Given the description of an element on the screen output the (x, y) to click on. 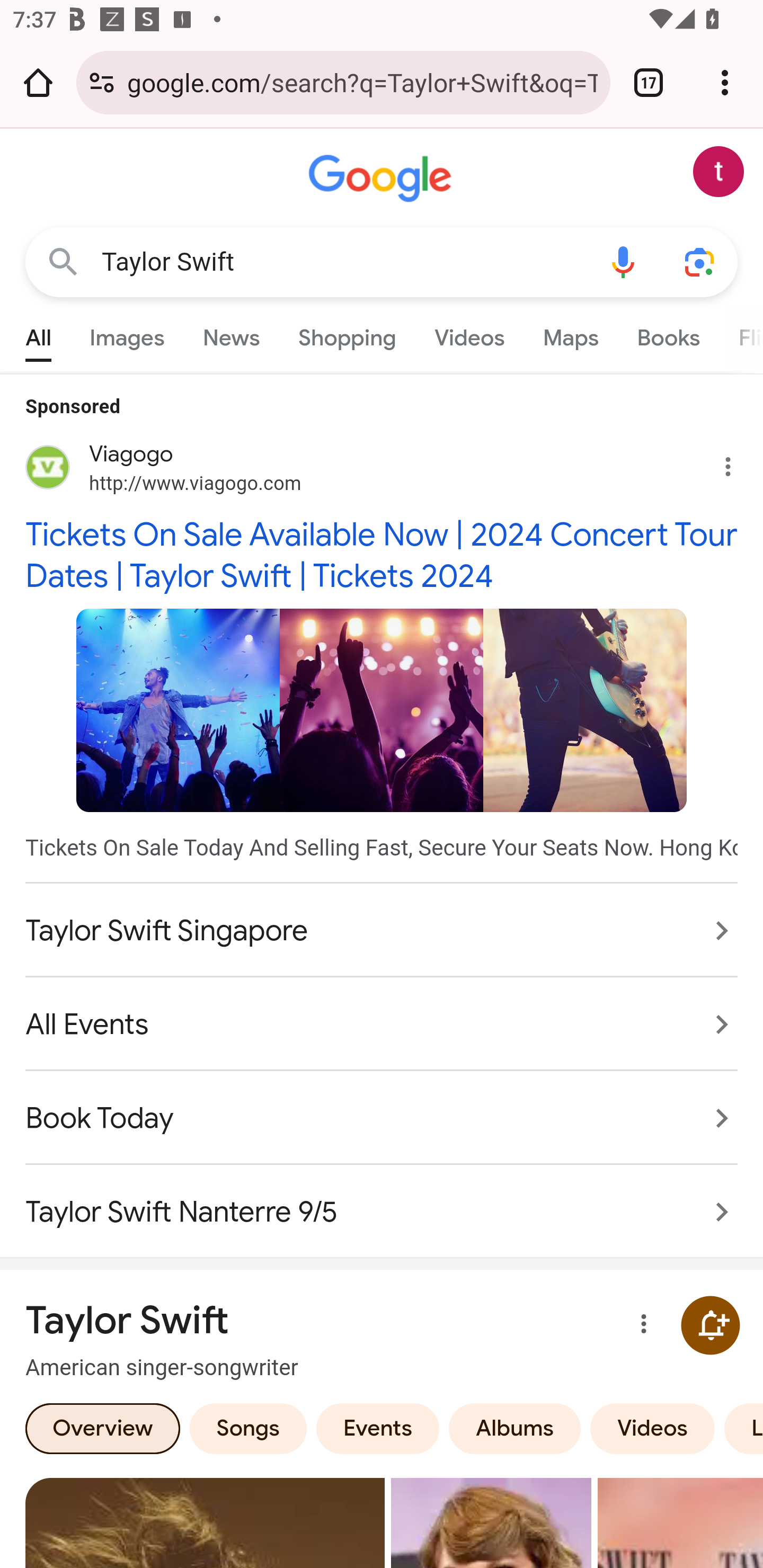
Open the home page (38, 82)
Connection is secure (101, 82)
Switch or close tabs (648, 82)
Customize and control Google Chrome (724, 82)
Google (381, 179)
Google Search (63, 262)
Search using your camera or photos (699, 262)
Taylor Swift (343, 261)
Images (127, 333)
News (231, 333)
Shopping (347, 333)
Videos (469, 333)
Maps (570, 333)
Books (668, 333)
Why this ad? (738, 462)
Image from viagogo.com (178, 709)
Image from viagogo.com (381, 709)
Image from viagogo.com (584, 709)
Taylor Swift Singapore (381, 930)
All Events (381, 1023)
Book Today (381, 1117)
Taylor Swift Nanterre 9/5 (381, 1202)
Get notifications about Taylor Swift (710, 1325)
More options (640, 1325)
Overview (103, 1427)
Songs (247, 1427)
Events (376, 1427)
Albums (514, 1427)
Videos (652, 1427)
